Given the description of an element on the screen output the (x, y) to click on. 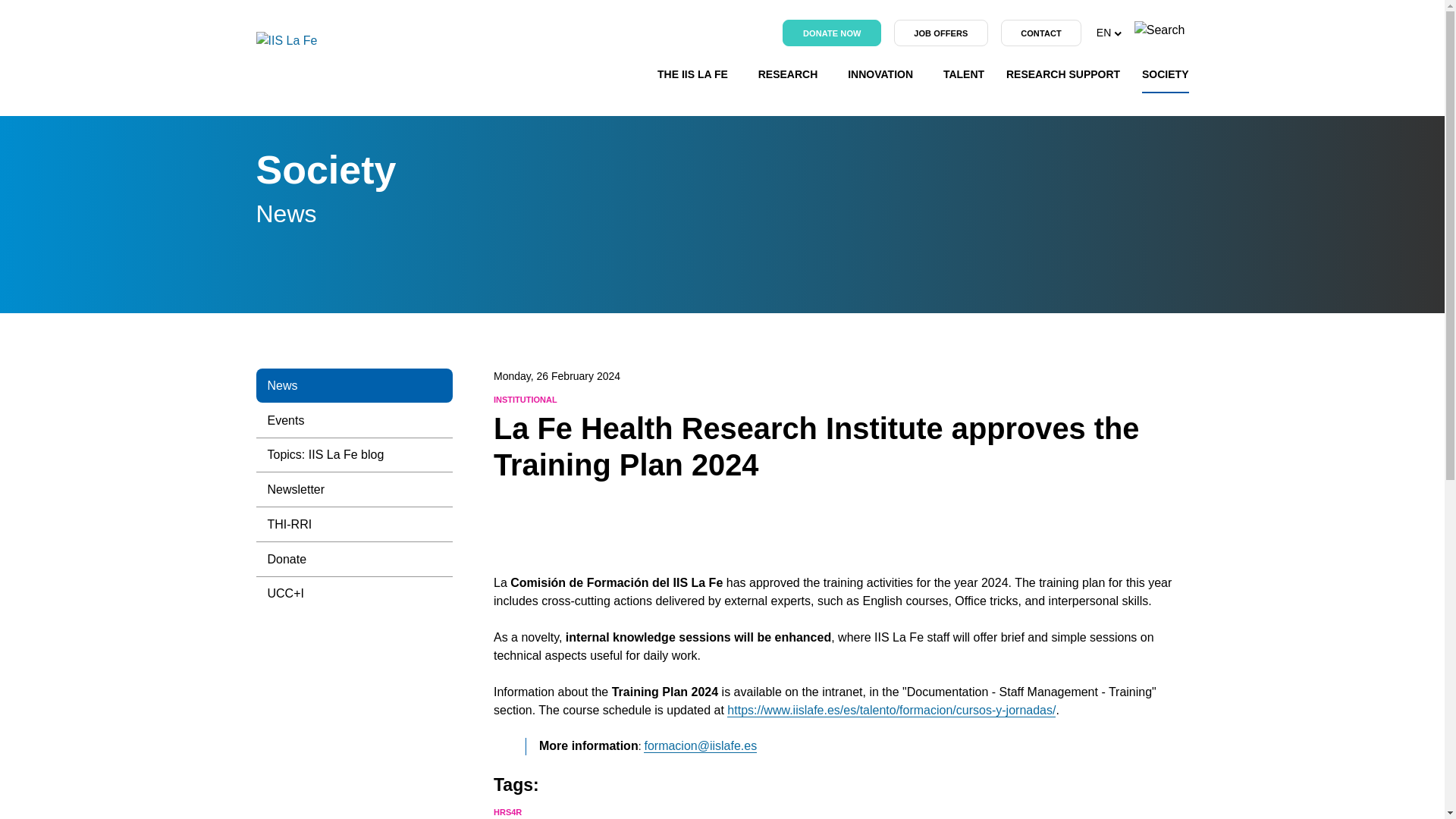
English version (1108, 32)
RESEARCH (792, 85)
FILL 6 COPY 5 (1117, 33)
CONTACT (1041, 32)
EN FILL 6 COPY 5 (1108, 32)
THE IIS LA FE (697, 85)
JOB OFFERS (940, 32)
DONATE NOW (831, 32)
